Given the description of an element on the screen output the (x, y) to click on. 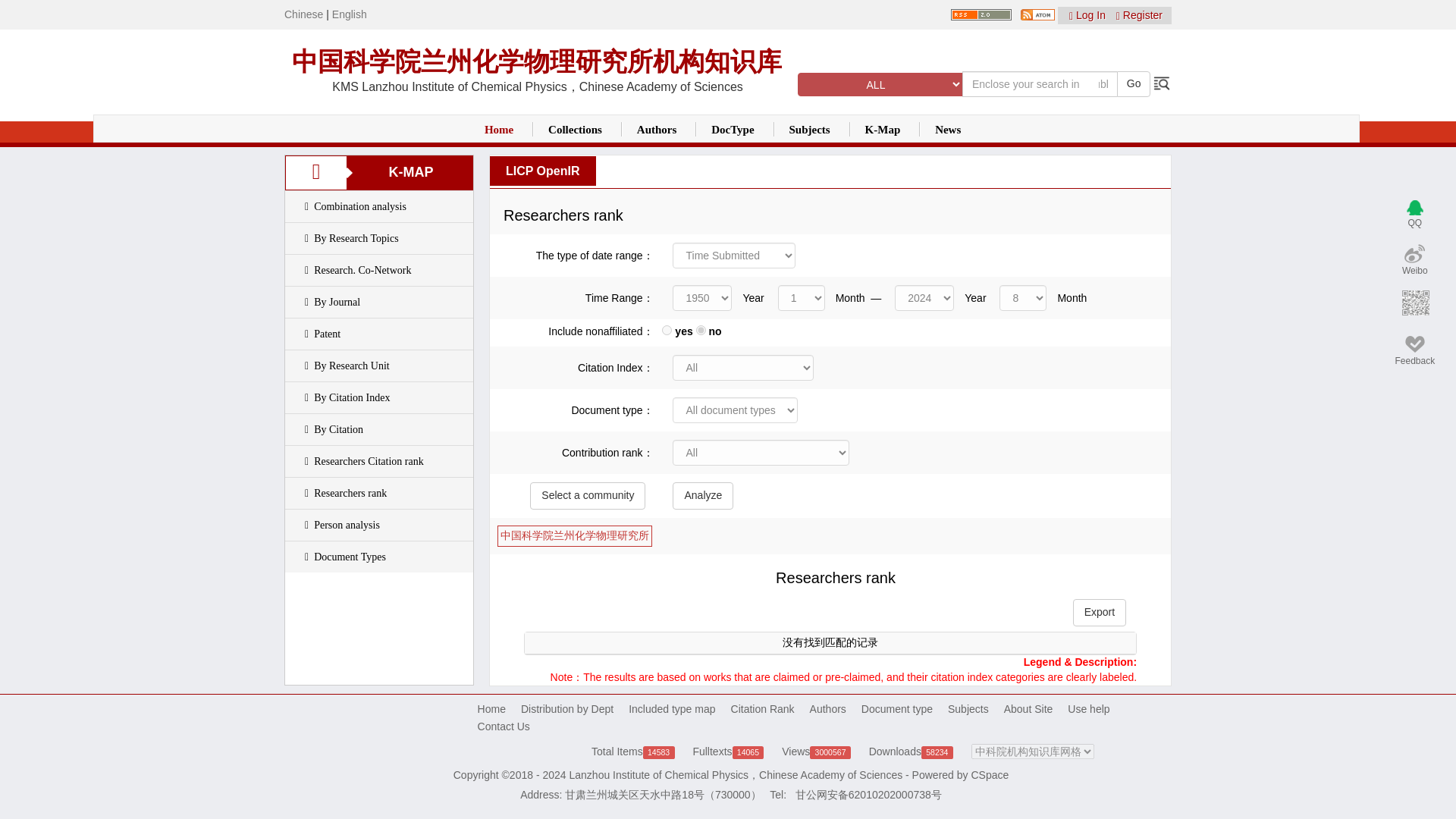
Select a community (587, 495)
true (666, 329)
By Citation (338, 429)
By Citation Index (352, 397)
Register (1138, 15)
Subjects (809, 129)
By Research Topics (356, 238)
Authors (656, 129)
Researchers Citation rank (368, 460)
Home (498, 129)
Patent (327, 333)
Researchers rank (350, 492)
Chinese (303, 14)
K-Map (882, 129)
DocType (733, 129)
